Given the description of an element on the screen output the (x, y) to click on. 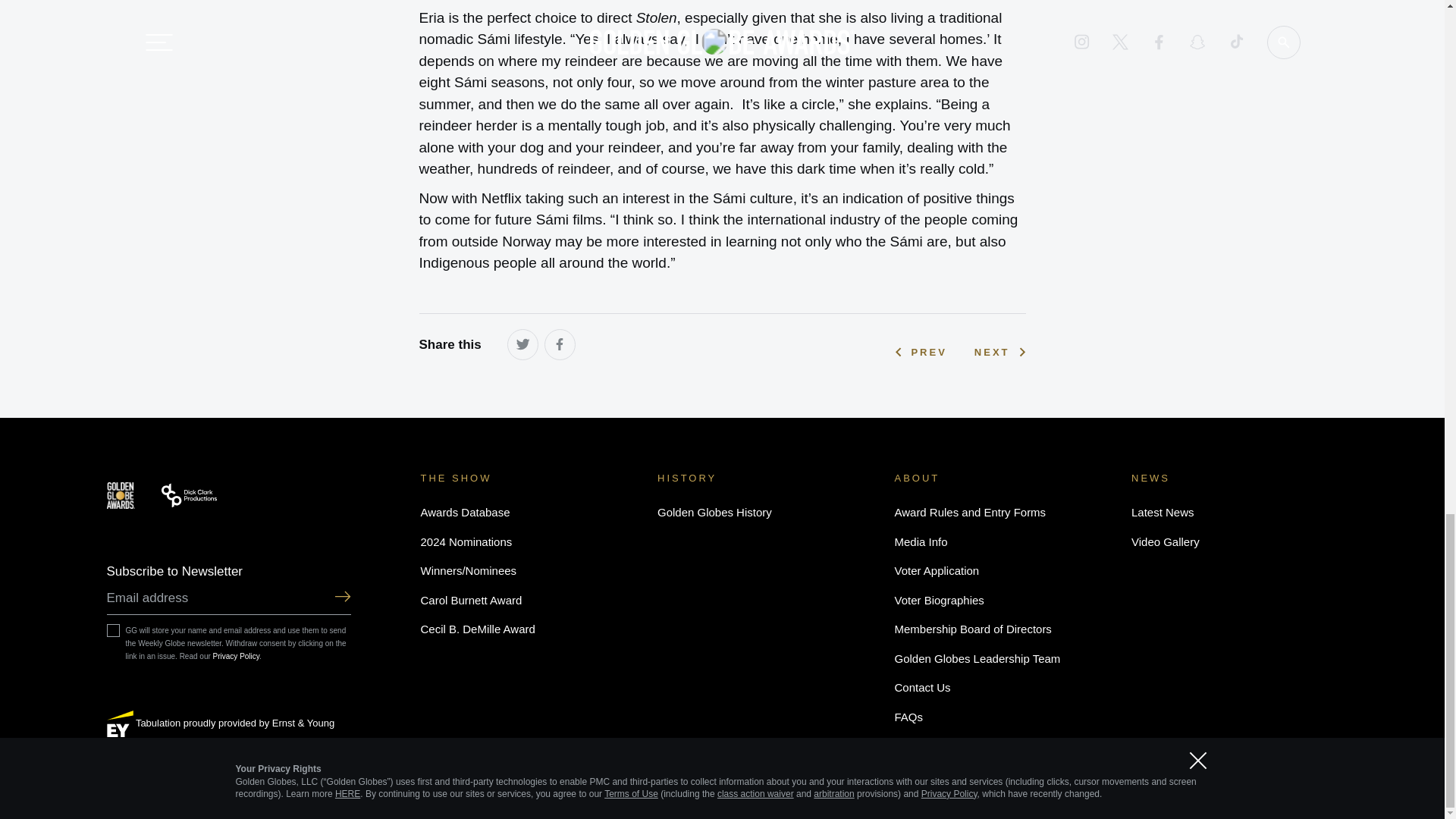
Submit (341, 597)
PREV (920, 352)
THE SHOW (456, 478)
Privacy Policy (236, 655)
NEXT (1000, 352)
